Given the description of an element on the screen output the (x, y) to click on. 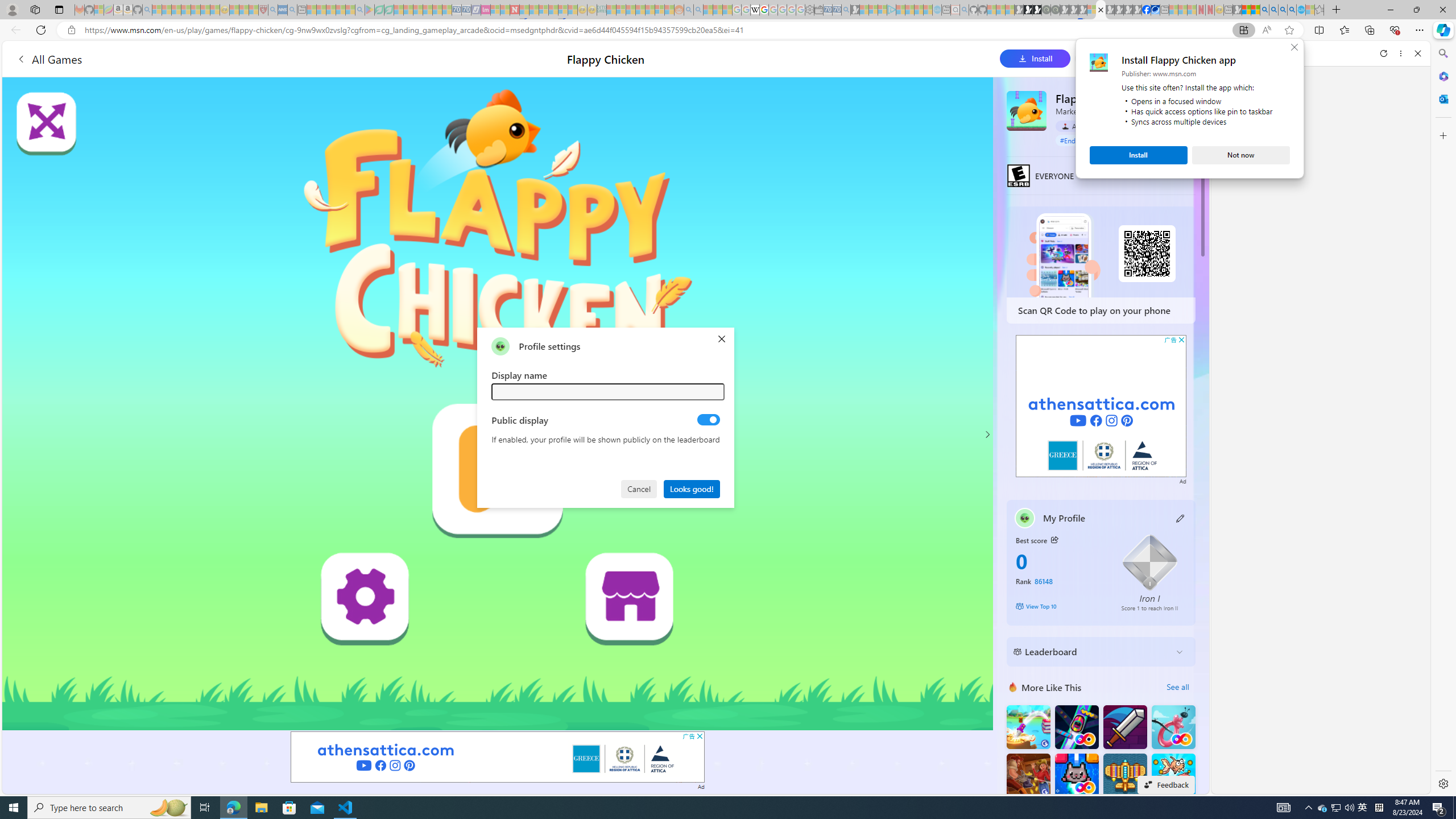
Tray Input Indicator - Chinese (Simplified, China) (1378, 807)
Expert Portfolios - Sleeping (639, 9)
Class: button (1053, 539)
Knife Flip (1028, 726)
AutomationID: cbb (1181, 339)
AirNow.gov (1154, 9)
Future Focus Report 2024 - Sleeping (1054, 9)
Sign in to your account - Sleeping (1090, 9)
